Given the description of an element on the screen output the (x, y) to click on. 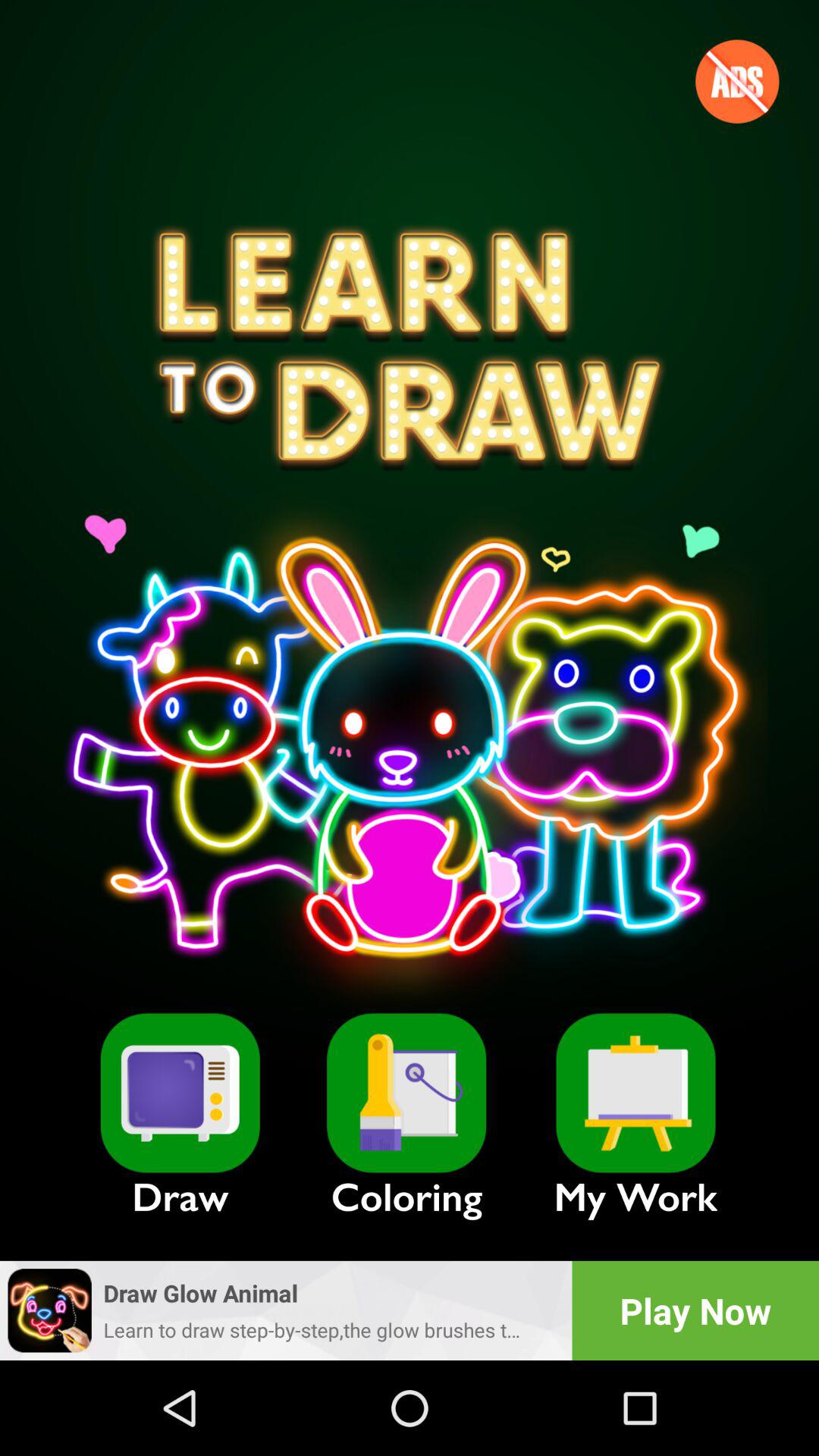
flip until play now app (695, 1310)
